Given the description of an element on the screen output the (x, y) to click on. 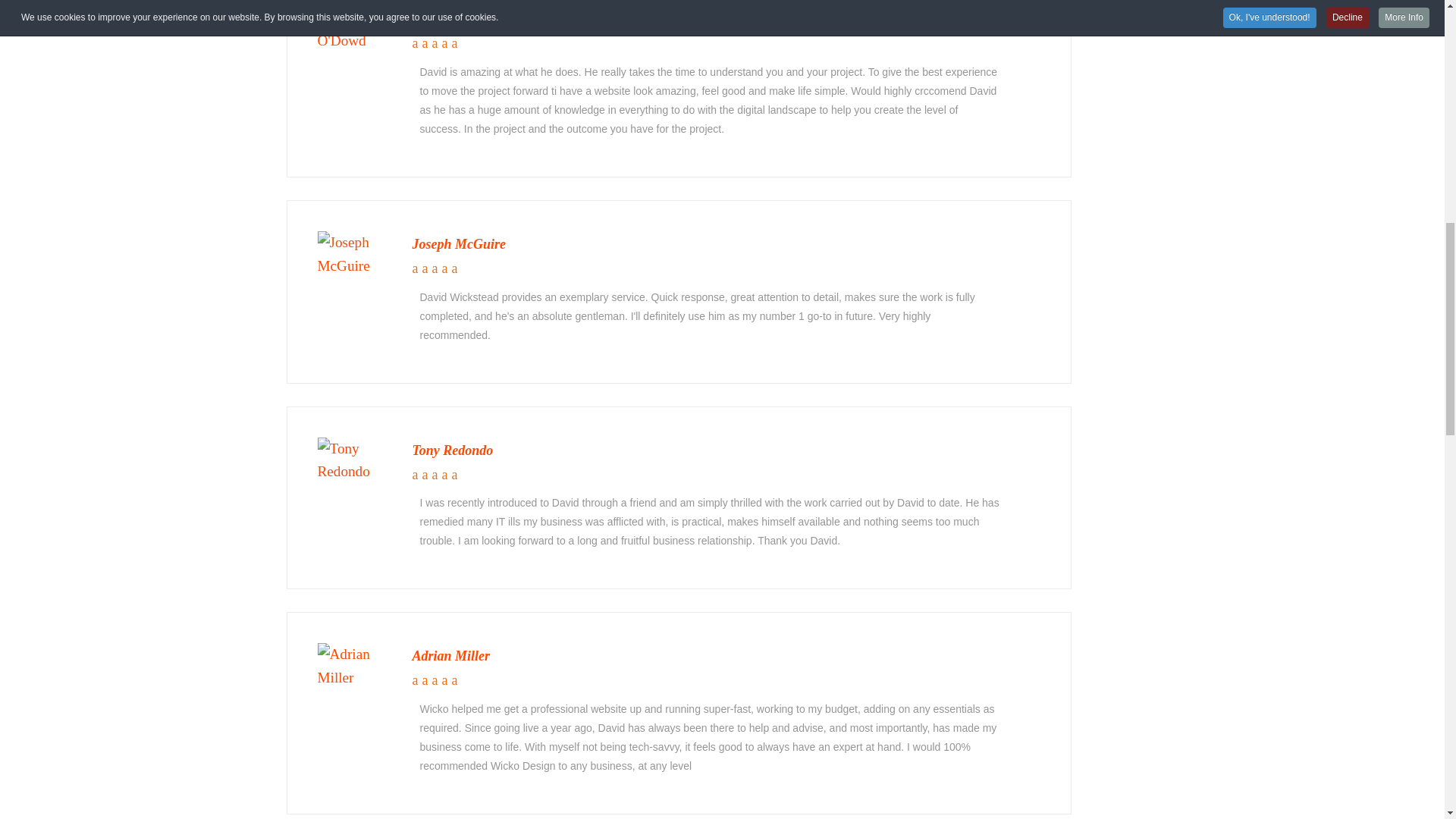
Joseph McGuire (355, 252)
Joseph McGuire (459, 243)
Aron O'Dowd (452, 18)
Joseph McGuire (355, 253)
Tony Redondo (452, 450)
Adrian Miller (355, 665)
Tony Redondo (355, 458)
Adrian Miller (355, 665)
Aron O'Dowd (355, 28)
Tony Redondo (355, 460)
Aron O'Dowd (355, 27)
Adrian Miller (451, 655)
